Given the description of an element on the screen output the (x, y) to click on. 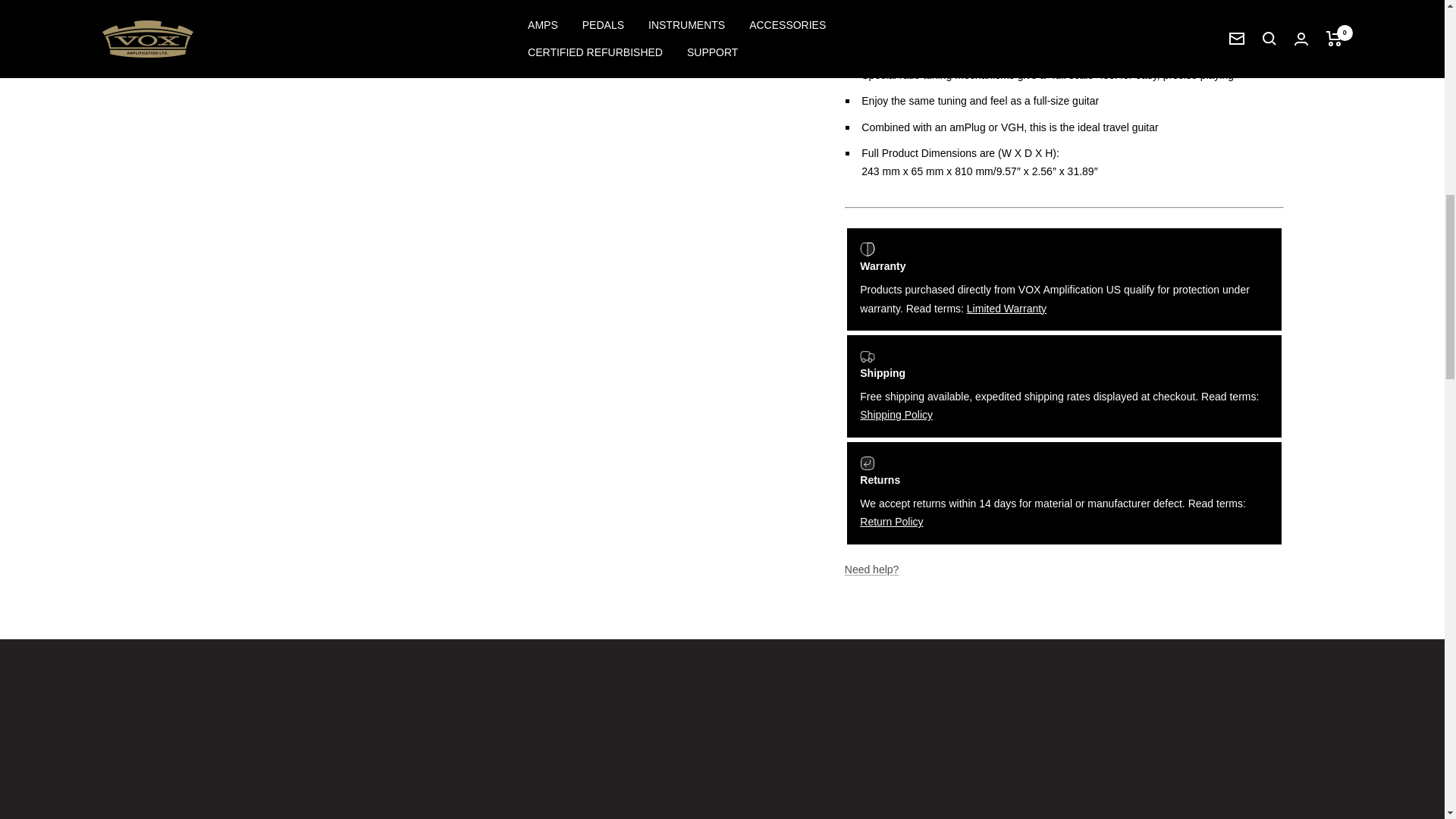
Returns (891, 521)
Shipping (896, 414)
korg us warranty terms (1006, 307)
